Given the description of an element on the screen output the (x, y) to click on. 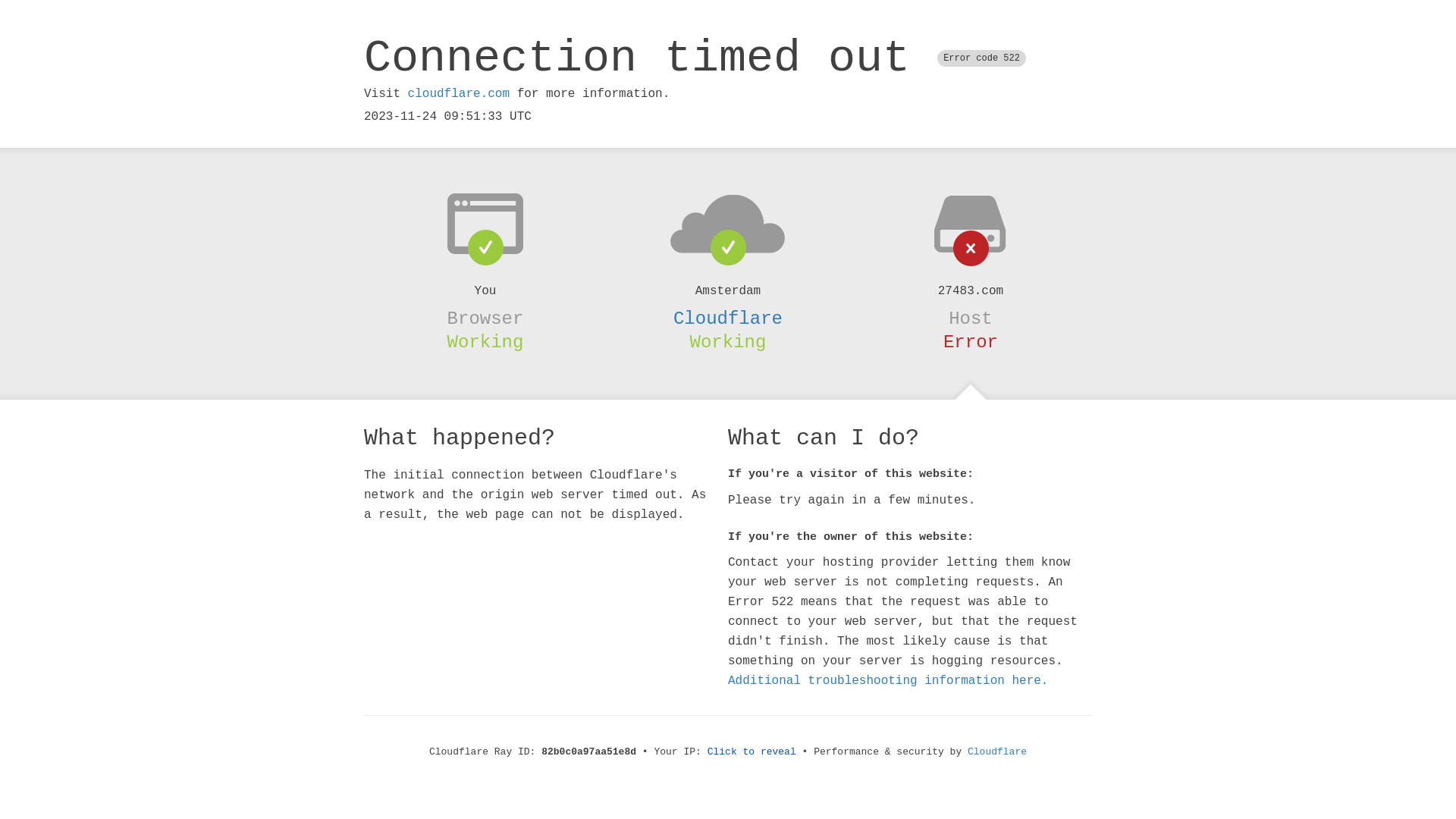
Additional troubleshooting information here. Element type: text (888, 680)
Cloudflare Element type: text (727, 318)
Click to reveal Element type: text (751, 751)
Cloudflare Element type: text (996, 751)
cloudflare.com Element type: text (458, 93)
